Given the description of an element on the screen output the (x, y) to click on. 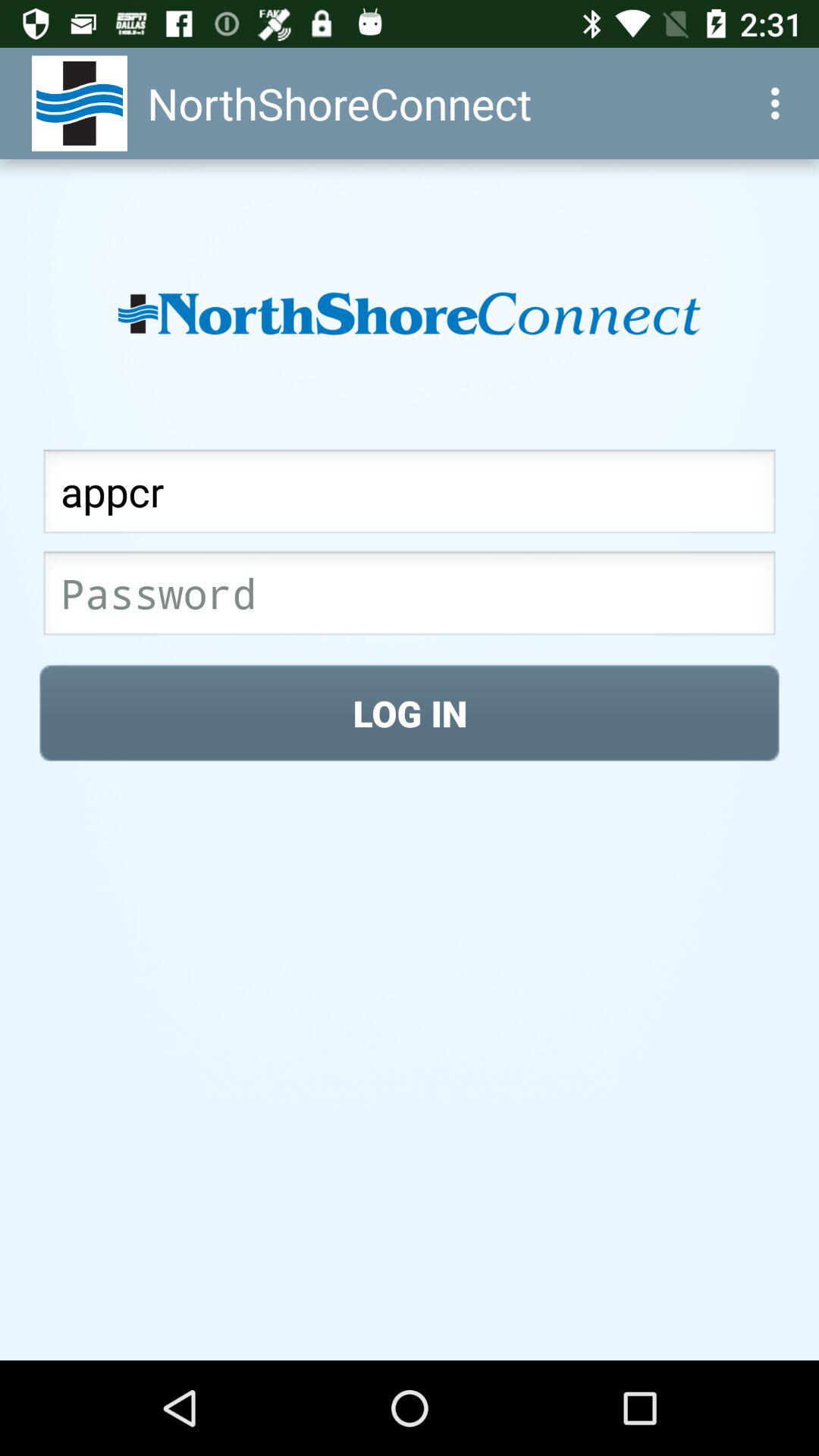
turn on icon above the log in icon (409, 597)
